Given the description of an element on the screen output the (x, y) to click on. 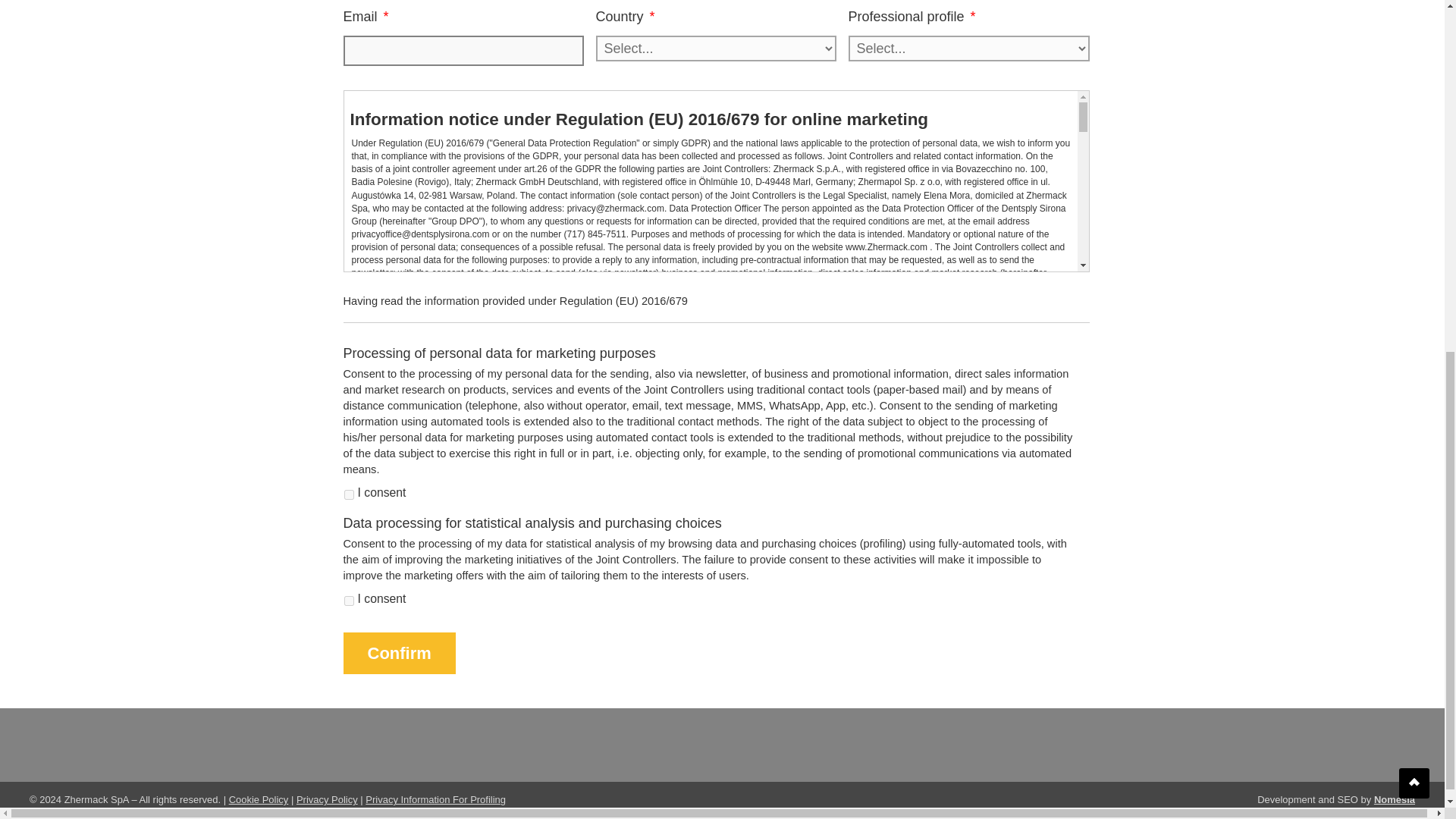
Confirm (398, 653)
Nomesia (1394, 799)
Privacy Policy (327, 799)
Privacy Information For Profiling (435, 799)
Confirm (398, 653)
1 (348, 494)
1 (348, 601)
Cookie Policy (258, 799)
